Given the description of an element on the screen output the (x, y) to click on. 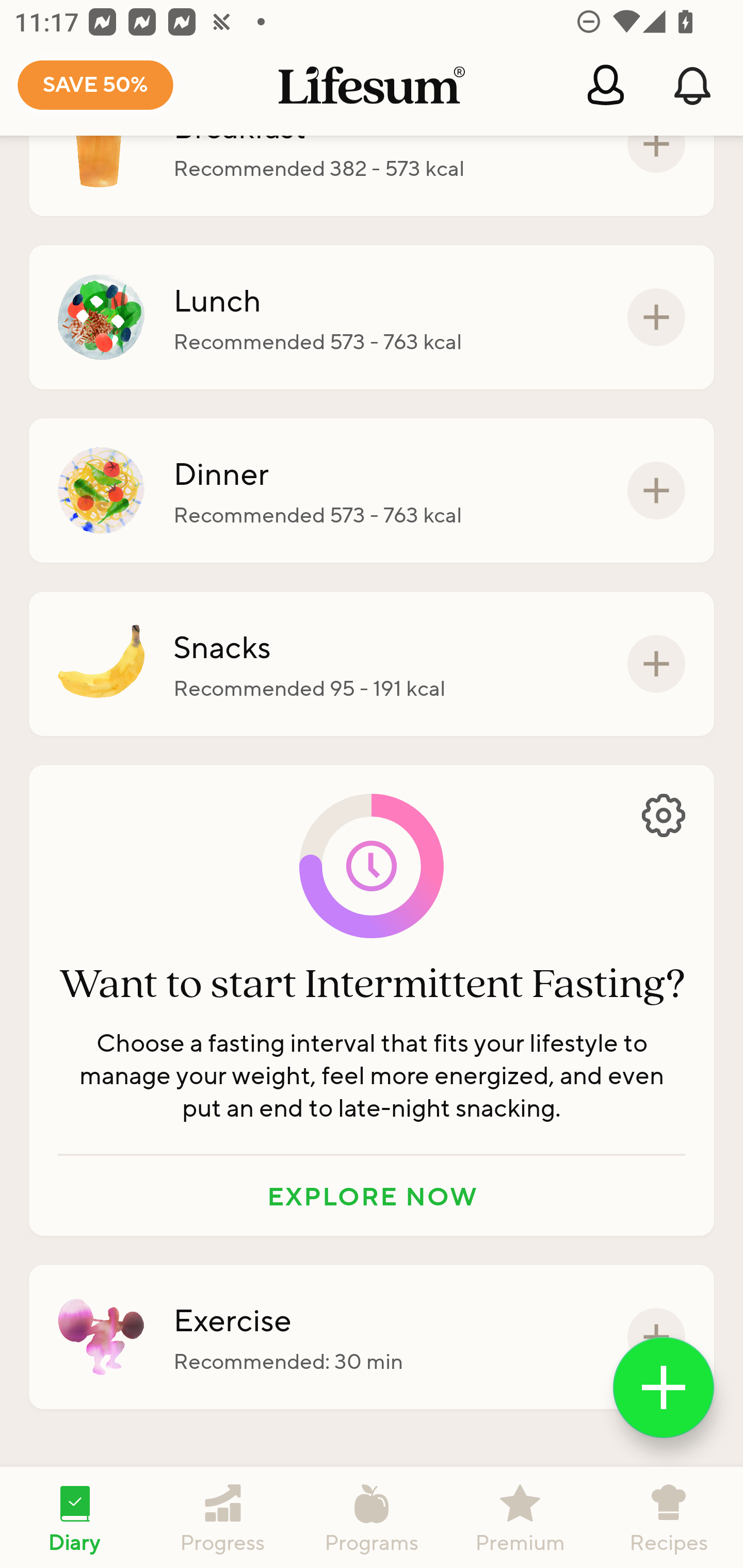
Lunch Recommended 573 - 763 kcal (371, 316)
Dinner Recommended 573 - 763 kcal (371, 490)
Snacks Recommended 95 - 191 kcal (371, 663)
EXPLORE NOW (371, 1195)
Exercise Recommended: 30 min (371, 1337)
Progress (222, 1517)
Programs (371, 1517)
Premium (519, 1517)
Recipes (668, 1517)
